Given the description of an element on the screen output the (x, y) to click on. 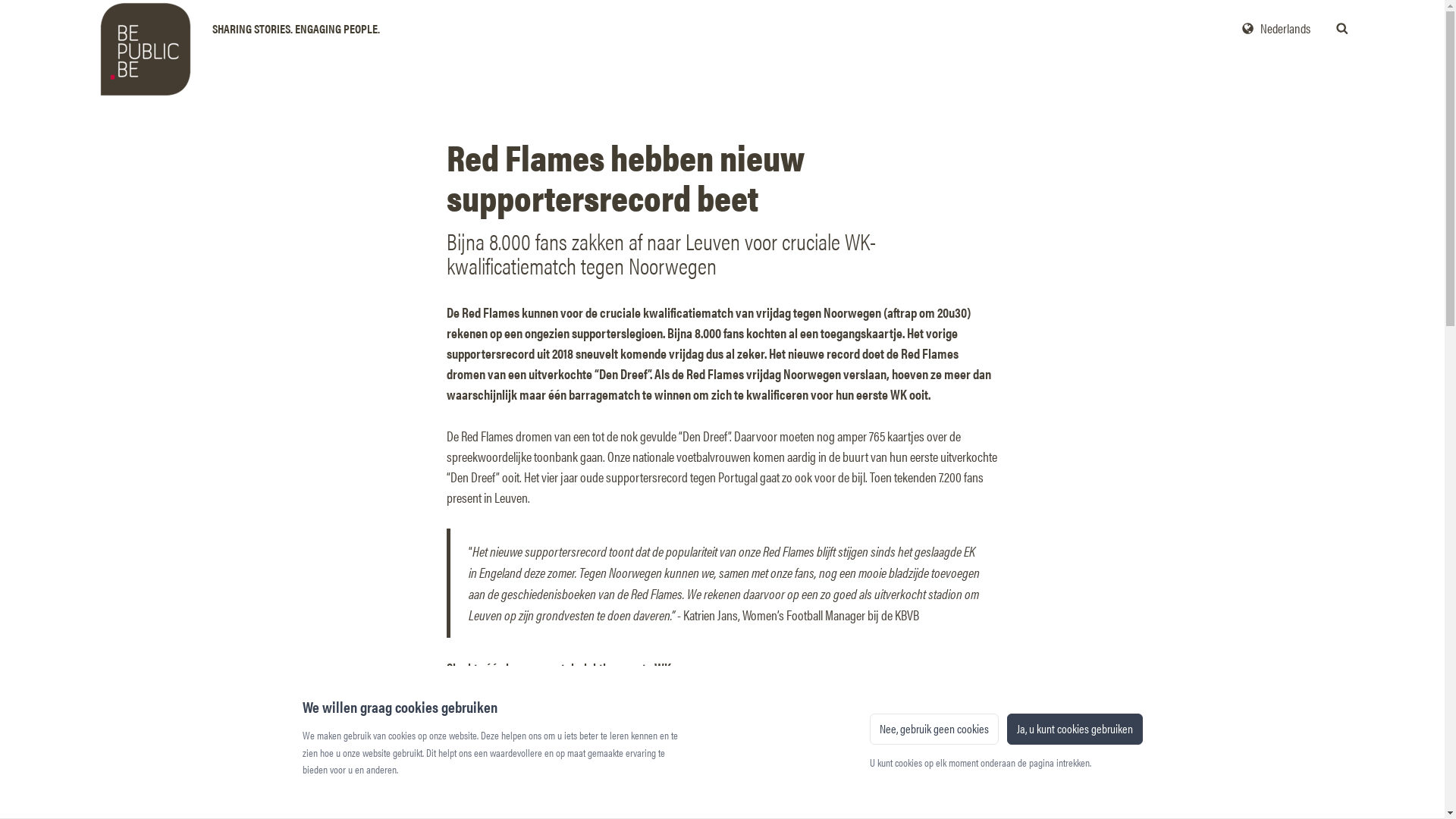
Bepublic Element type: hover (231, 27)
Nederlands Element type: text (1275, 27)
Ja, u kunt cookies gebruiken Element type: text (1074, 728)
Zoek in de newsroom Element type: hover (1341, 26)
Nee, gebruik geen cookies Element type: text (933, 728)
